Given the description of an element on the screen output the (x, y) to click on. 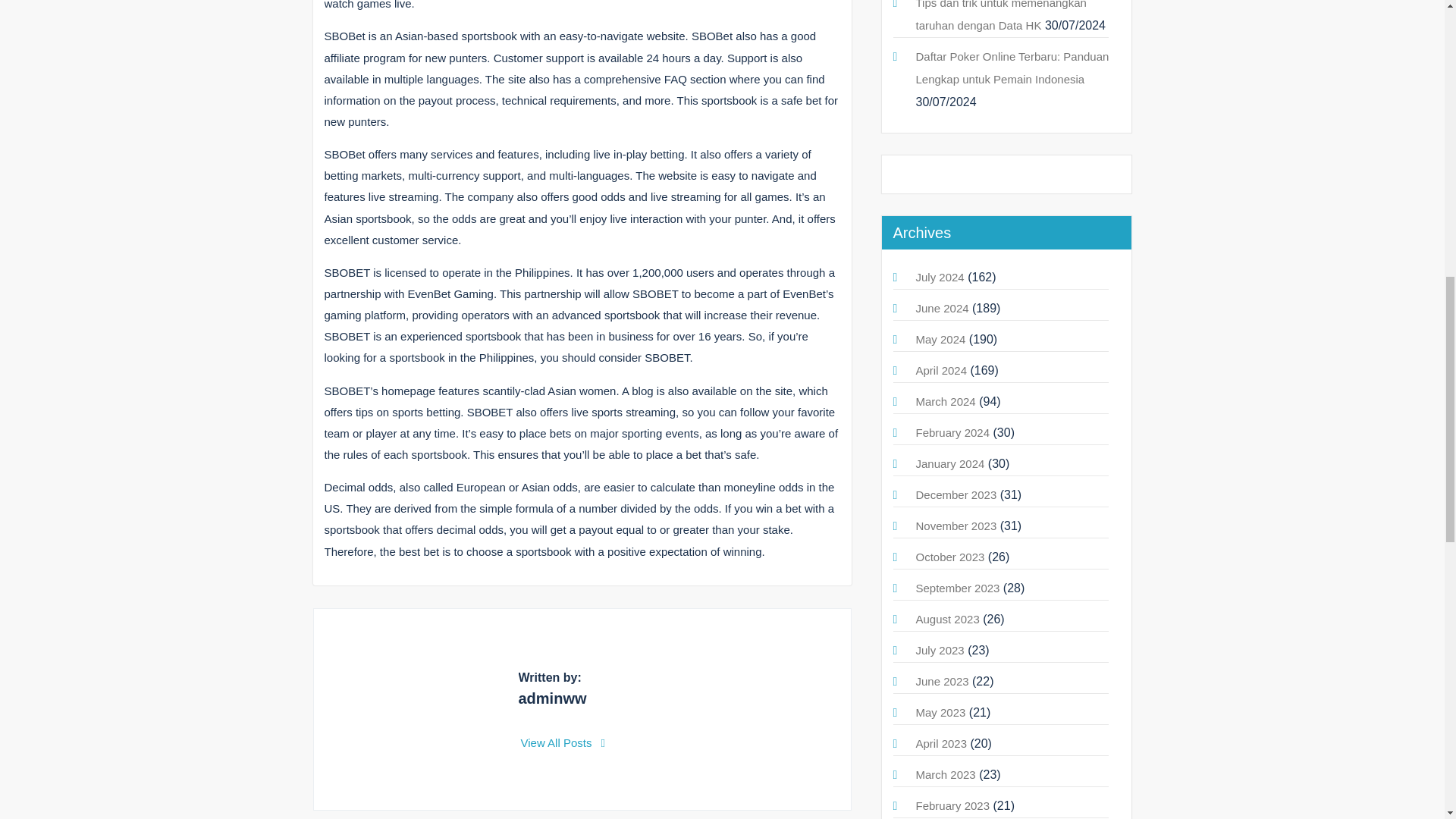
February 2023 (952, 805)
July 2023 (939, 649)
Tips dan trik untuk memenangkan taruhan dengan Data HK (1000, 15)
June 2023 (942, 680)
August 2023 (947, 618)
February 2024 (952, 431)
January 2024 (950, 463)
March 2023 (945, 774)
May 2023 (940, 712)
June 2024 (942, 308)
May 2024 (940, 338)
November 2023 (956, 525)
March 2024 (945, 400)
September 2023 (957, 587)
